Given the description of an element on the screen output the (x, y) to click on. 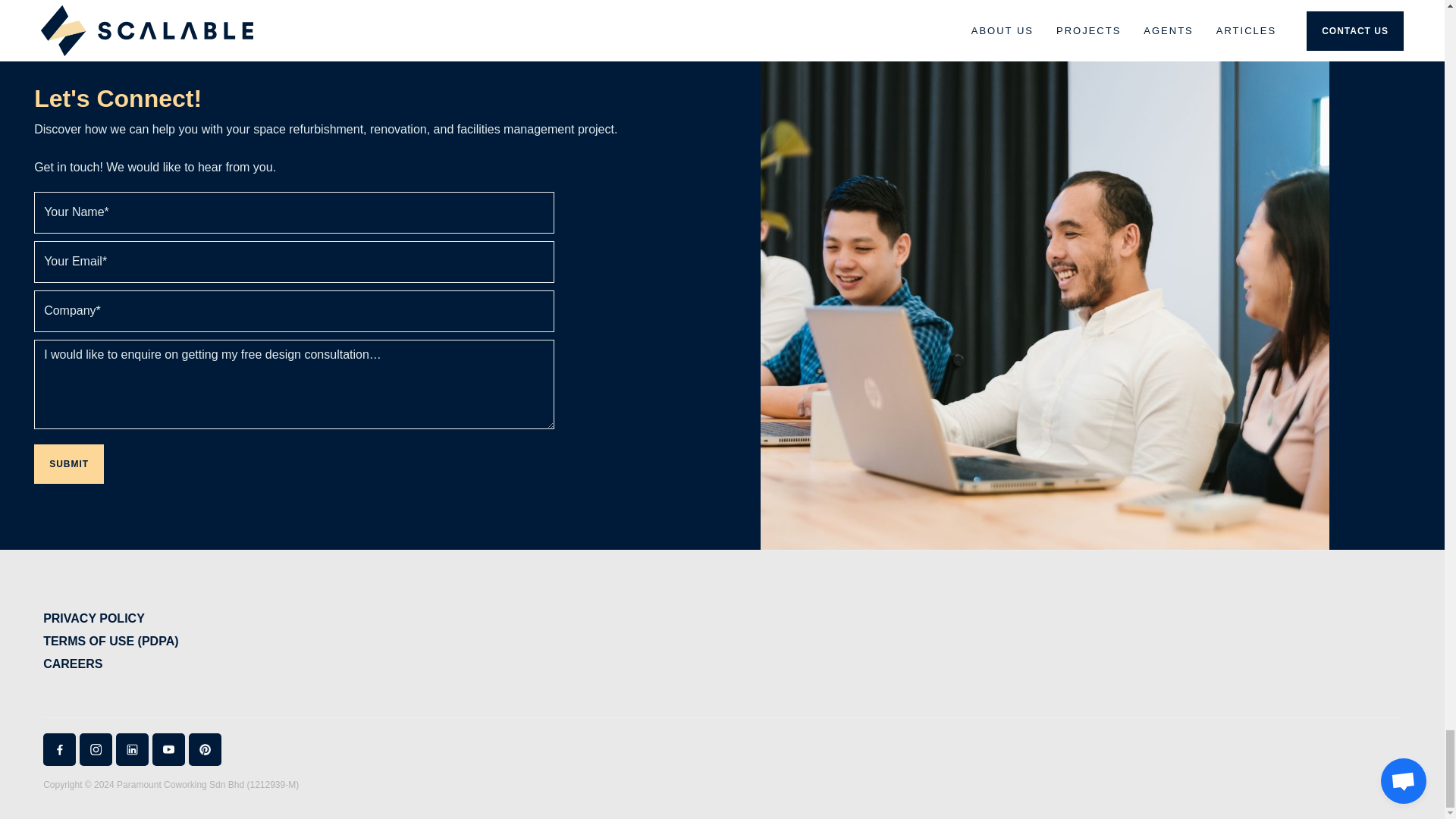
SUBMIT (68, 464)
PRIVACY POLICY (110, 618)
SUBMIT (68, 464)
CAREERS (110, 663)
